Given the description of an element on the screen output the (x, y) to click on. 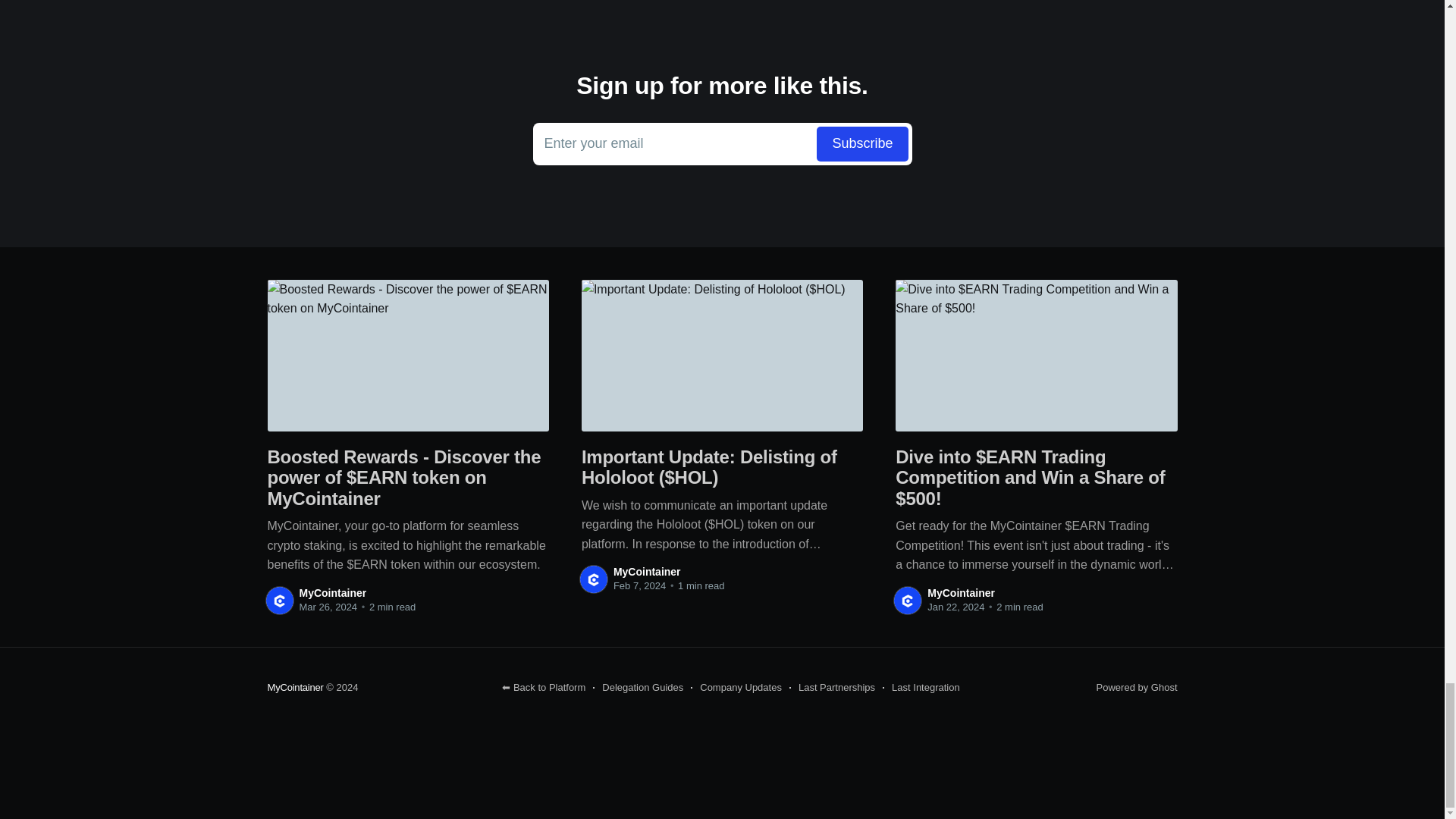
MyCointainer (332, 592)
